Given the description of an element on the screen output the (x, y) to click on. 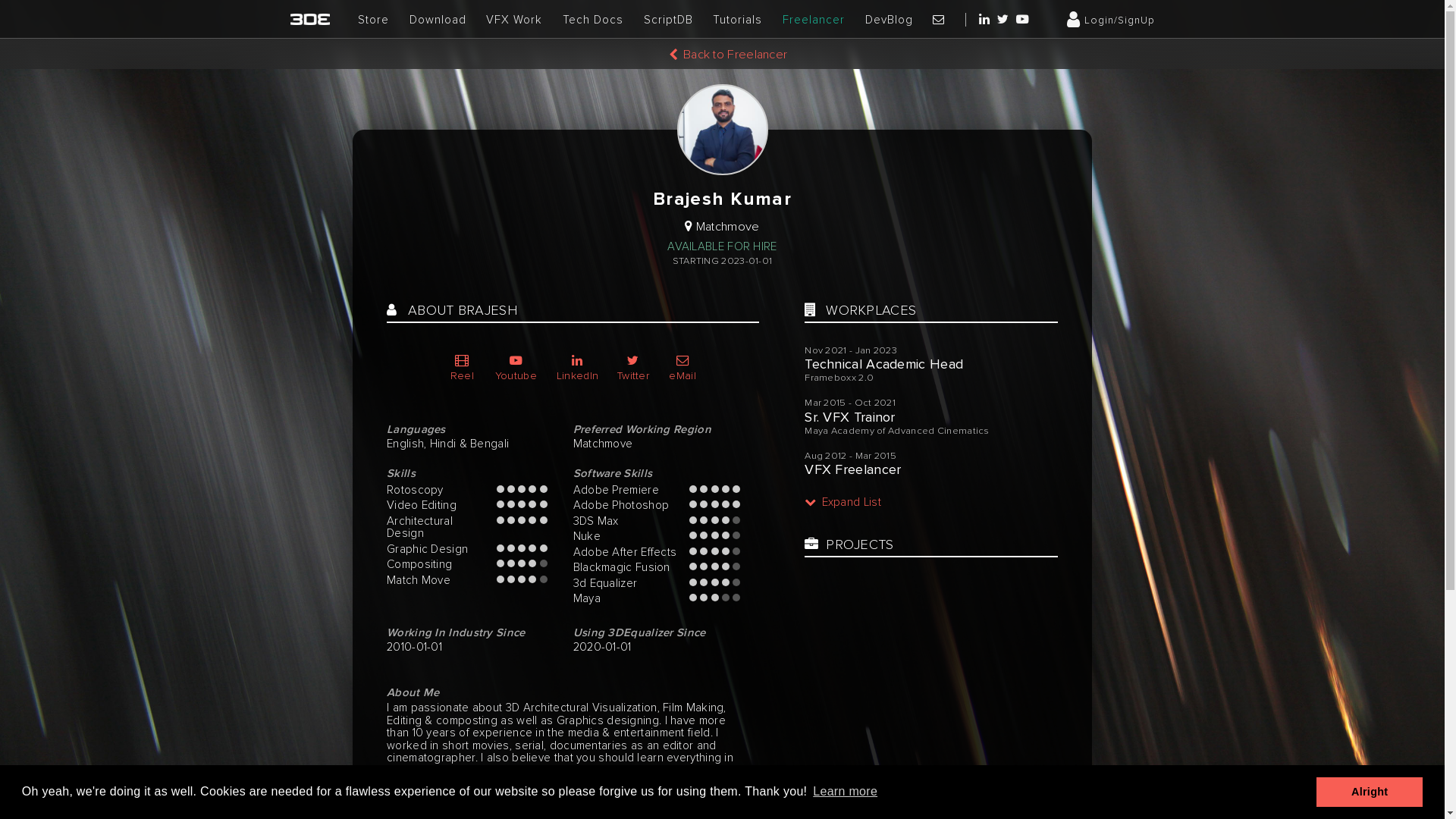
Tutorials Element type: text (737, 19)
Back to Freelancer Element type: text (727, 54)
Learn more Element type: text (844, 791)
Tech Docs Element type: text (592, 19)
Freelancer Element type: text (813, 19)
Store Element type: text (373, 19)
ScriptDB Element type: text (668, 19)
Login/SignUp Element type: text (1110, 19)
VFX Work Element type: text (514, 19)
Expand List Element type: text (842, 501)
Alright Element type: text (1369, 791)
Download Element type: text (437, 19)
DevBlog Element type: text (889, 19)
